Given the description of an element on the screen output the (x, y) to click on. 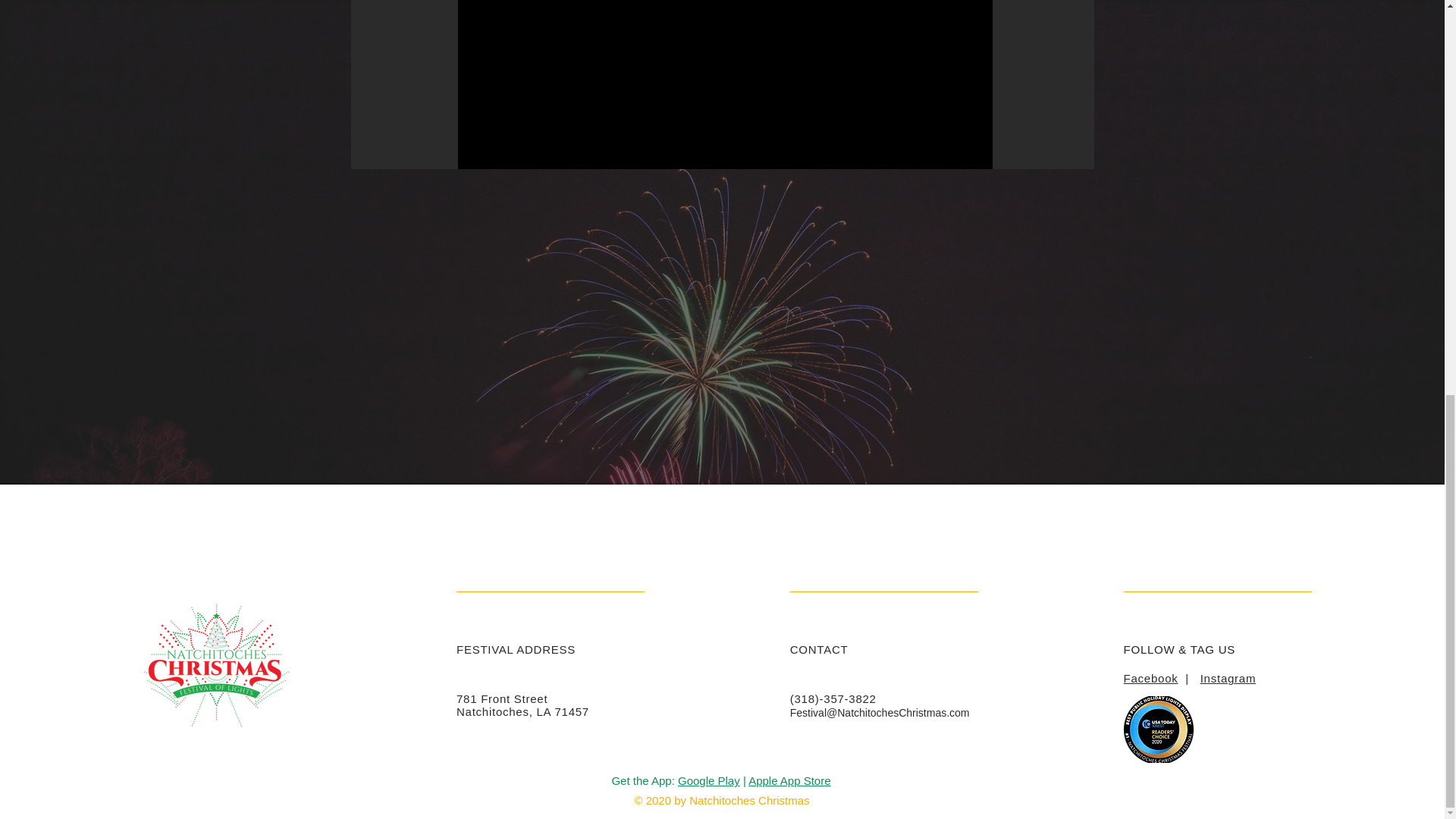
Google Play (708, 780)
Instagram (1227, 677)
Apple App Store (788, 780)
Facebook (1150, 677)
